Given the description of an element on the screen output the (x, y) to click on. 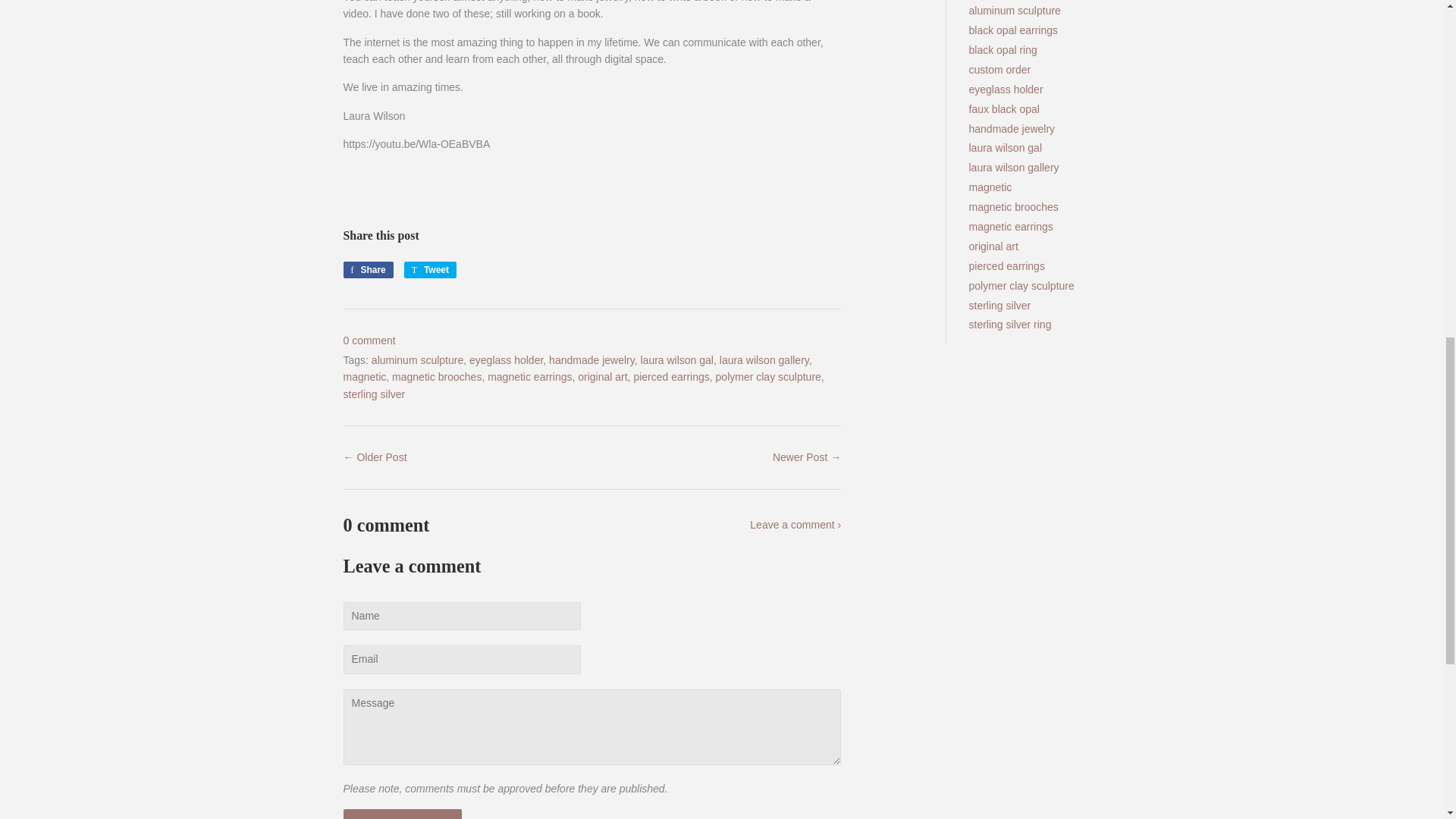
Show articles tagged eyeglass holder (1006, 89)
Show articles tagged original art (993, 246)
Post comment (401, 814)
Show articles tagged aluminum sculpture (1015, 10)
Show articles tagged black opal ring (1002, 50)
Show articles tagged faux black opal (1004, 109)
Show articles tagged magnetic brooches (1013, 206)
Show articles tagged laura wilson gallery (1014, 167)
Tweet on Twitter (430, 269)
Show articles tagged magnetic earrings (1010, 226)
